Given the description of an element on the screen output the (x, y) to click on. 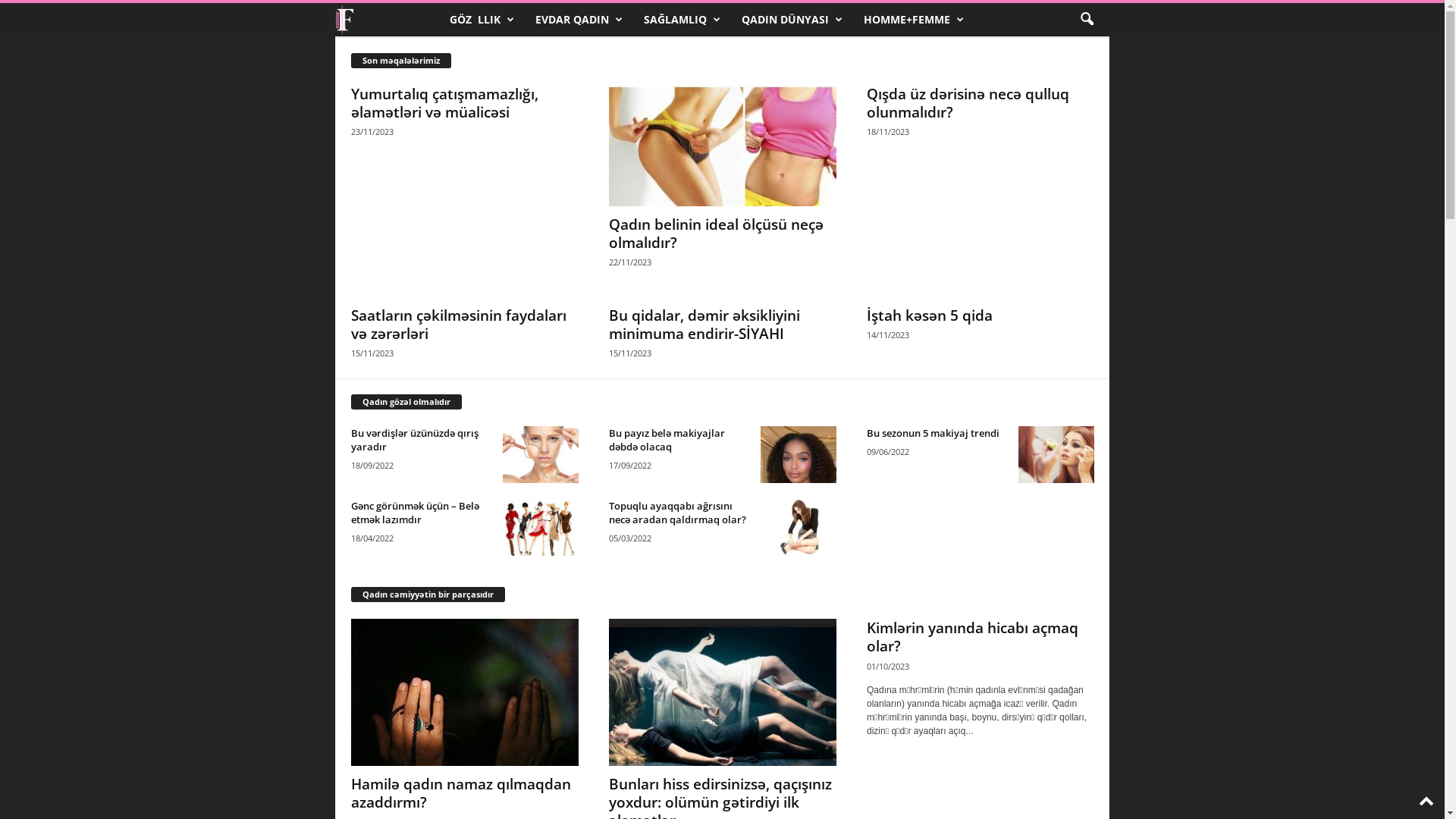
HOMME+FEMME Element type: text (912, 19)
EVDAR QADIN Element type: text (578, 19)
Bu sezonun 5 makiyaj trendi Element type: hover (1056, 454)
Femme.az Element type: text (386, 20)
Bu sezonun 5 makiyaj trendi Element type: text (932, 432)
